Given the description of an element on the screen output the (x, y) to click on. 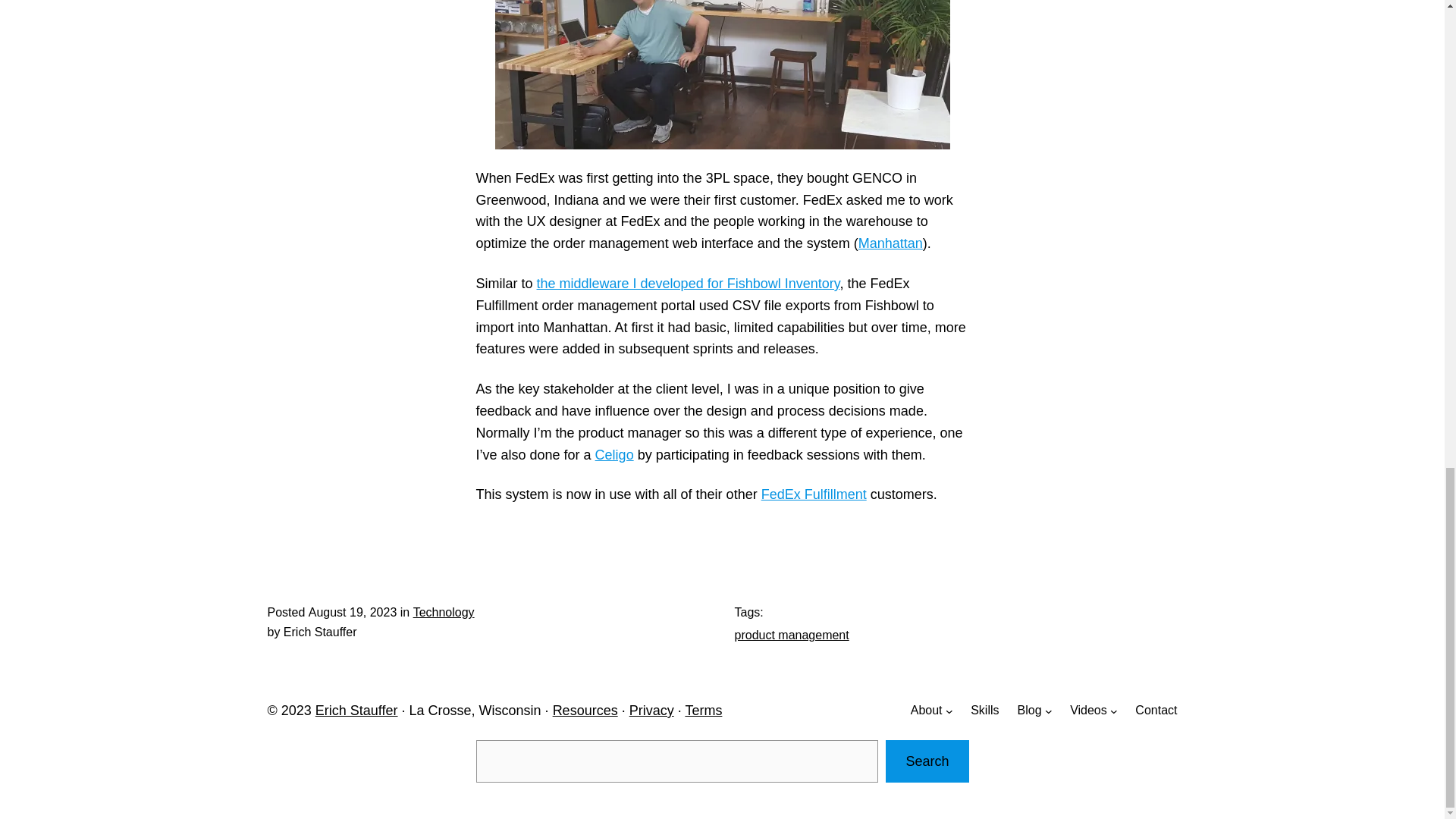
Privacy (651, 710)
product management (790, 634)
the middleware I developed for Fishbowl Inventory (688, 283)
Terms (703, 710)
Manhattan (891, 242)
Erich Stauffer (356, 710)
Celigo (614, 454)
Technology (443, 612)
FedEx Fulfillment (813, 494)
Resources (585, 710)
